Given the description of an element on the screen output the (x, y) to click on. 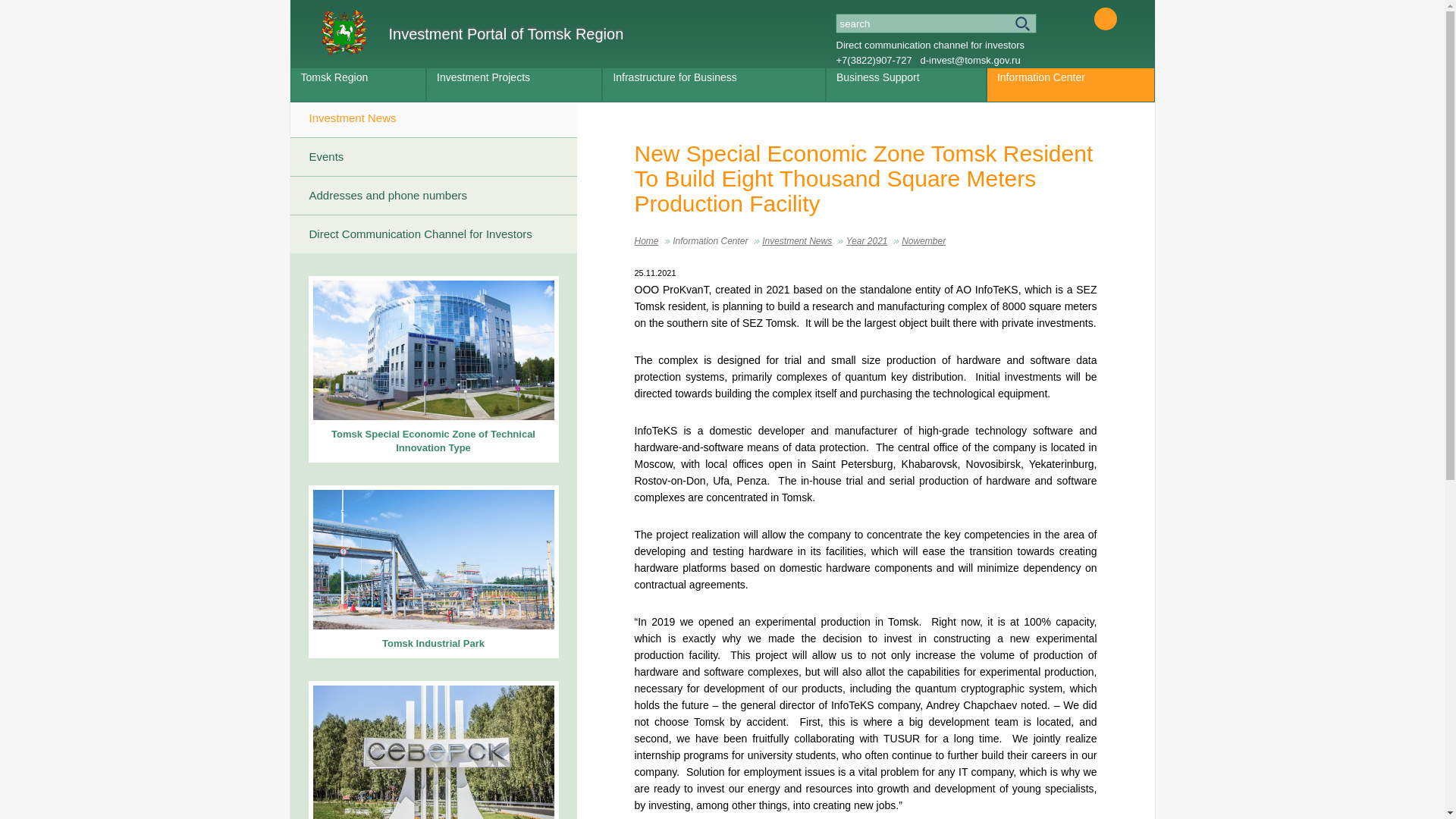
Direct Communication Channel for Investors (432, 234)
Investment Portal of Tomsk Region (471, 32)
Investment News (796, 240)
Ru (1081, 18)
Cn (1127, 18)
Tomsk Special Economic Zone of Technical Innovation Type (432, 369)
Search (935, 23)
Home (645, 240)
Tomsk Industrial Park (432, 571)
Events (432, 157)
Addresses and phone numbers (432, 195)
Direct communication channel for investors (930, 44)
Search (935, 23)
Investment News (432, 118)
